Given the description of an element on the screen output the (x, y) to click on. 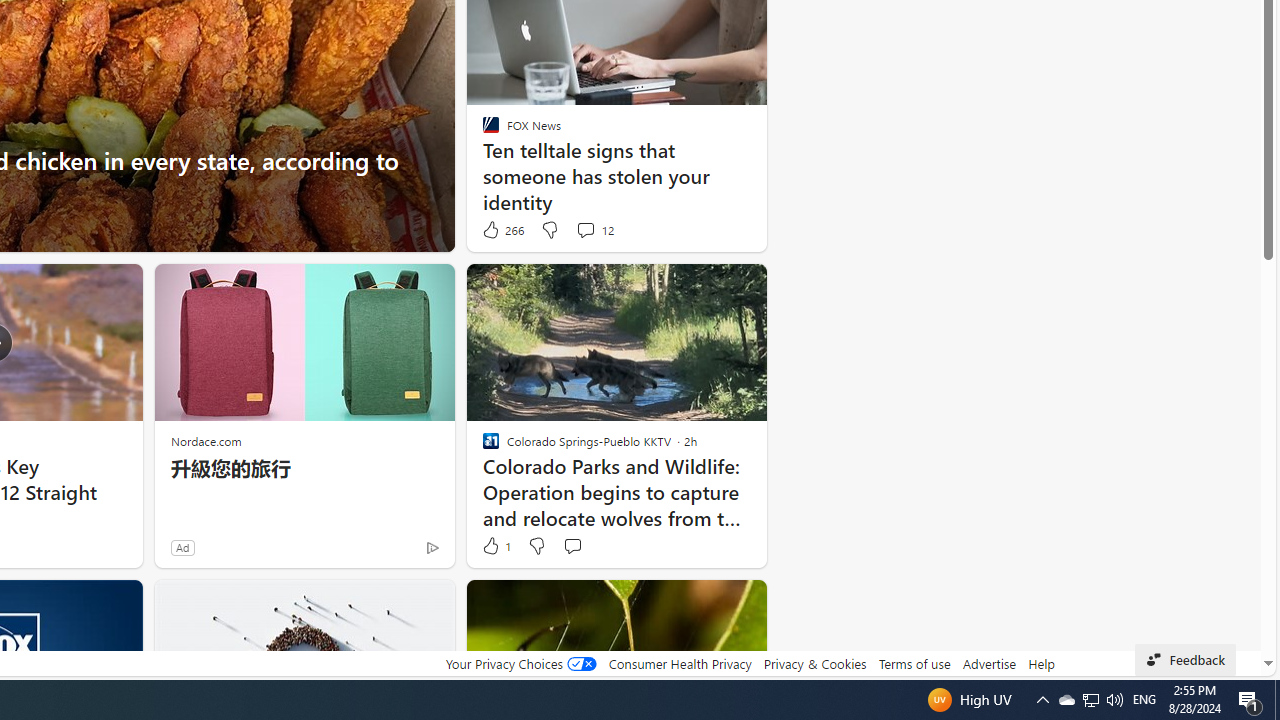
Consumer Health Privacy (680, 663)
Help (1040, 663)
Hide this story (706, 603)
View comments 12 Comment (585, 229)
1 Like (495, 546)
Your Privacy Choices (520, 663)
Advertise (989, 663)
Nordace.com (205, 440)
Terms of use (914, 663)
